Given the description of an element on the screen output the (x, y) to click on. 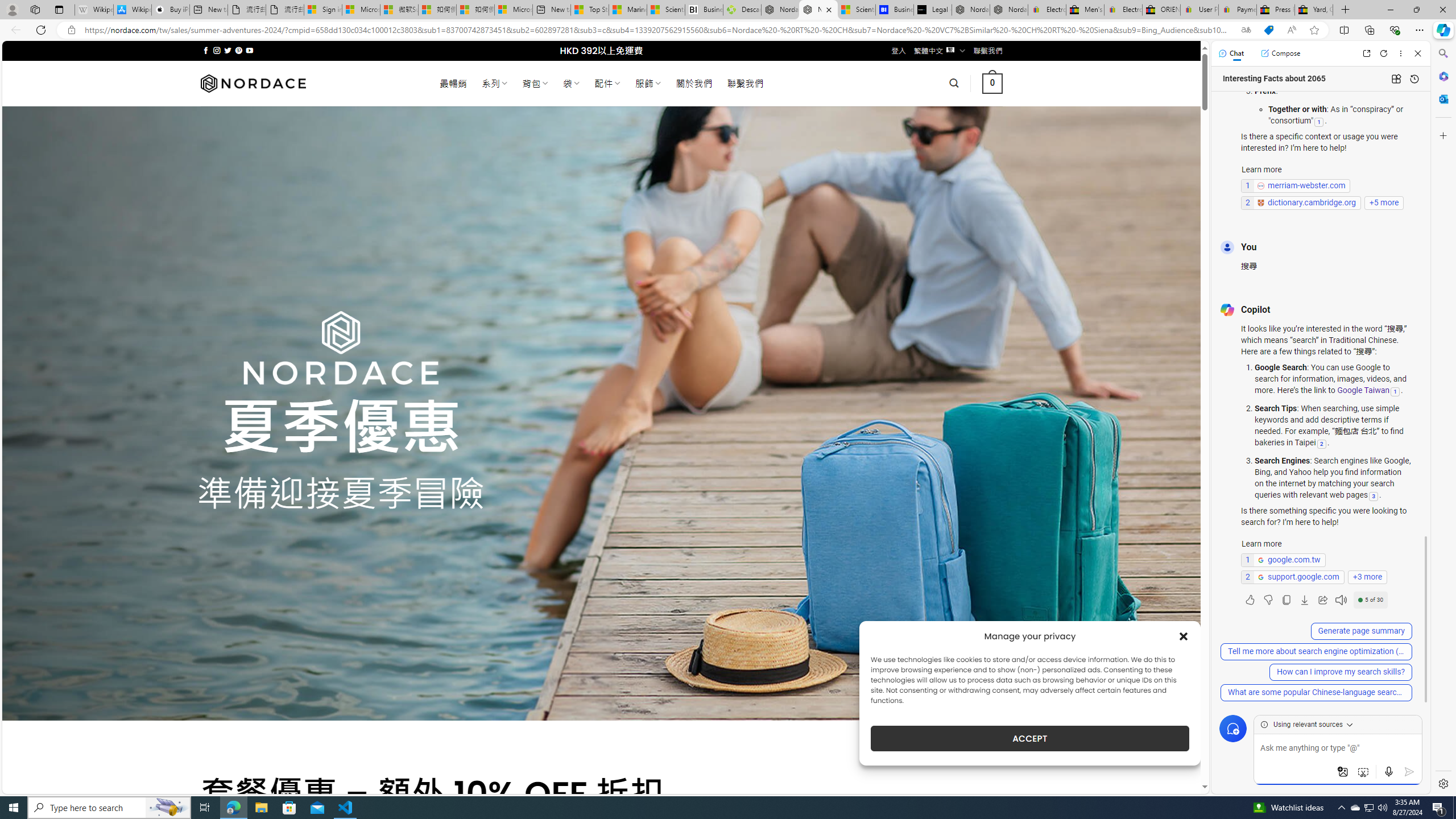
  0   (992, 83)
